Given the description of an element on the screen output the (x, y) to click on. 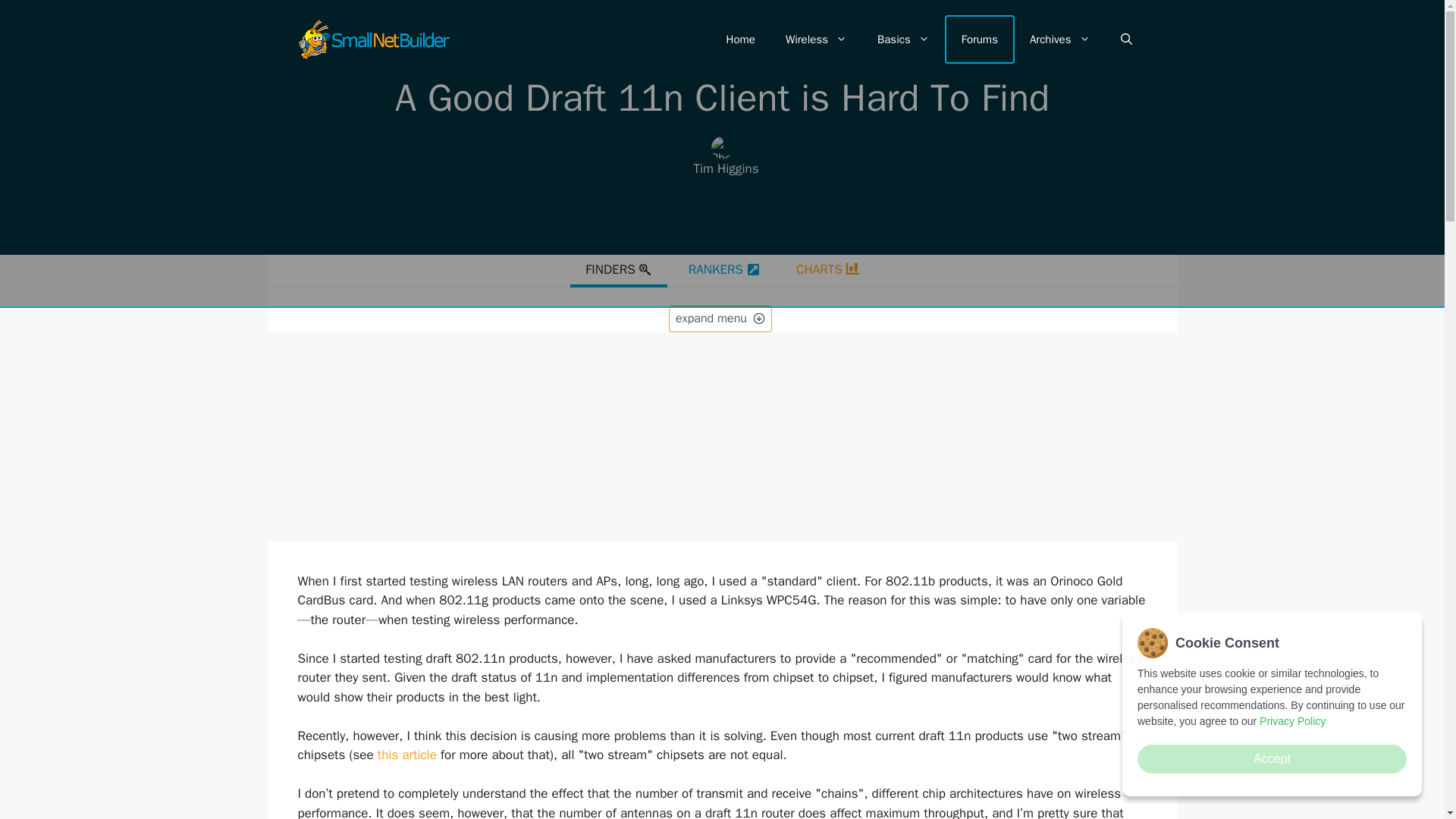
Basics (902, 39)
Wireless (815, 39)
Forums (979, 39)
Archives (1059, 39)
Home (740, 39)
